Given the description of an element on the screen output the (x, y) to click on. 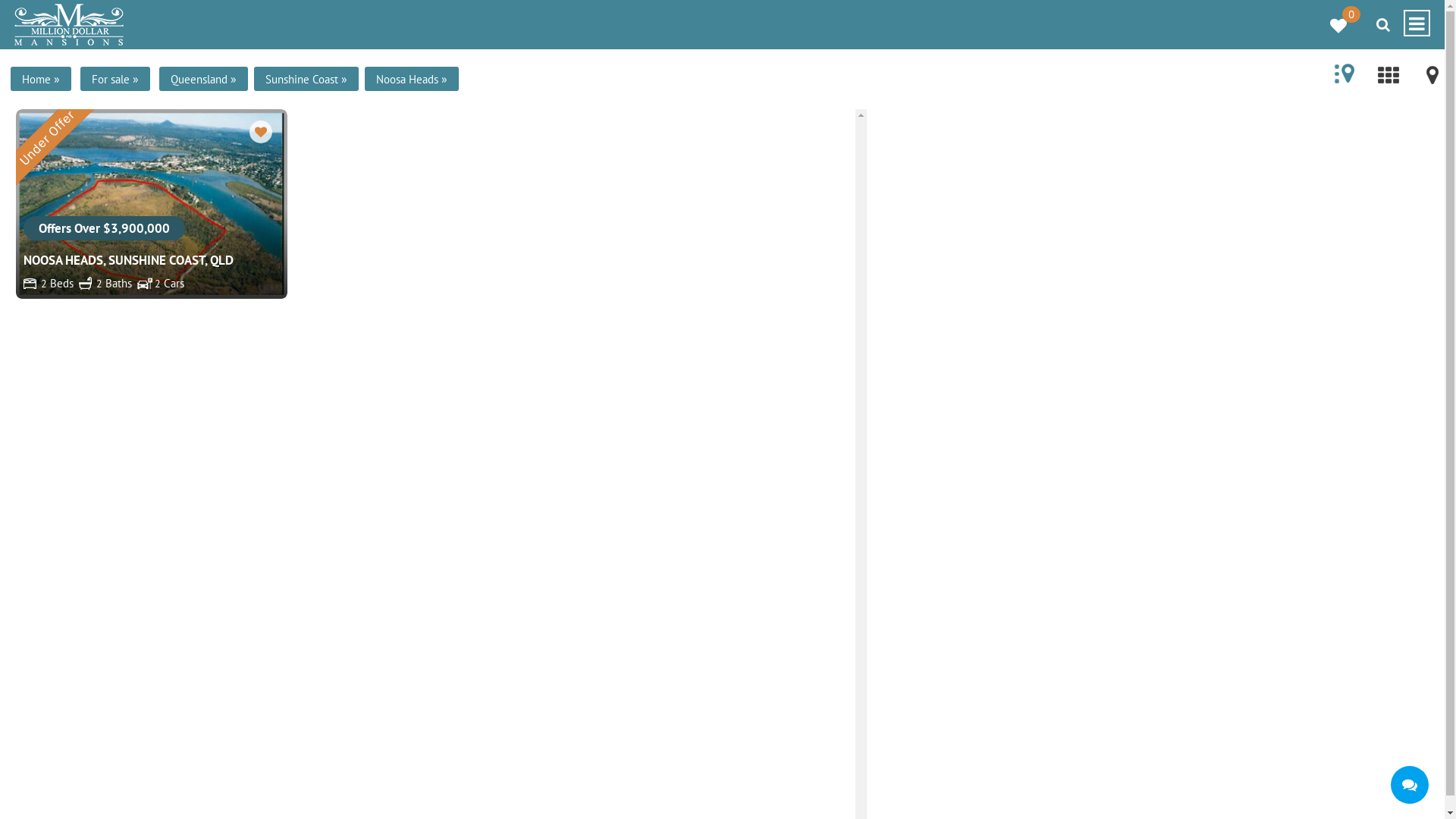
0 Element type: text (1323, 19)
Noosa Heads Element type: text (407, 79)
For sale Element type: text (110, 79)
Sunshine Coast Element type: text (301, 79)
Queensland Element type: text (198, 79)
Home Element type: text (35, 79)
